Given the description of an element on the screen output the (x, y) to click on. 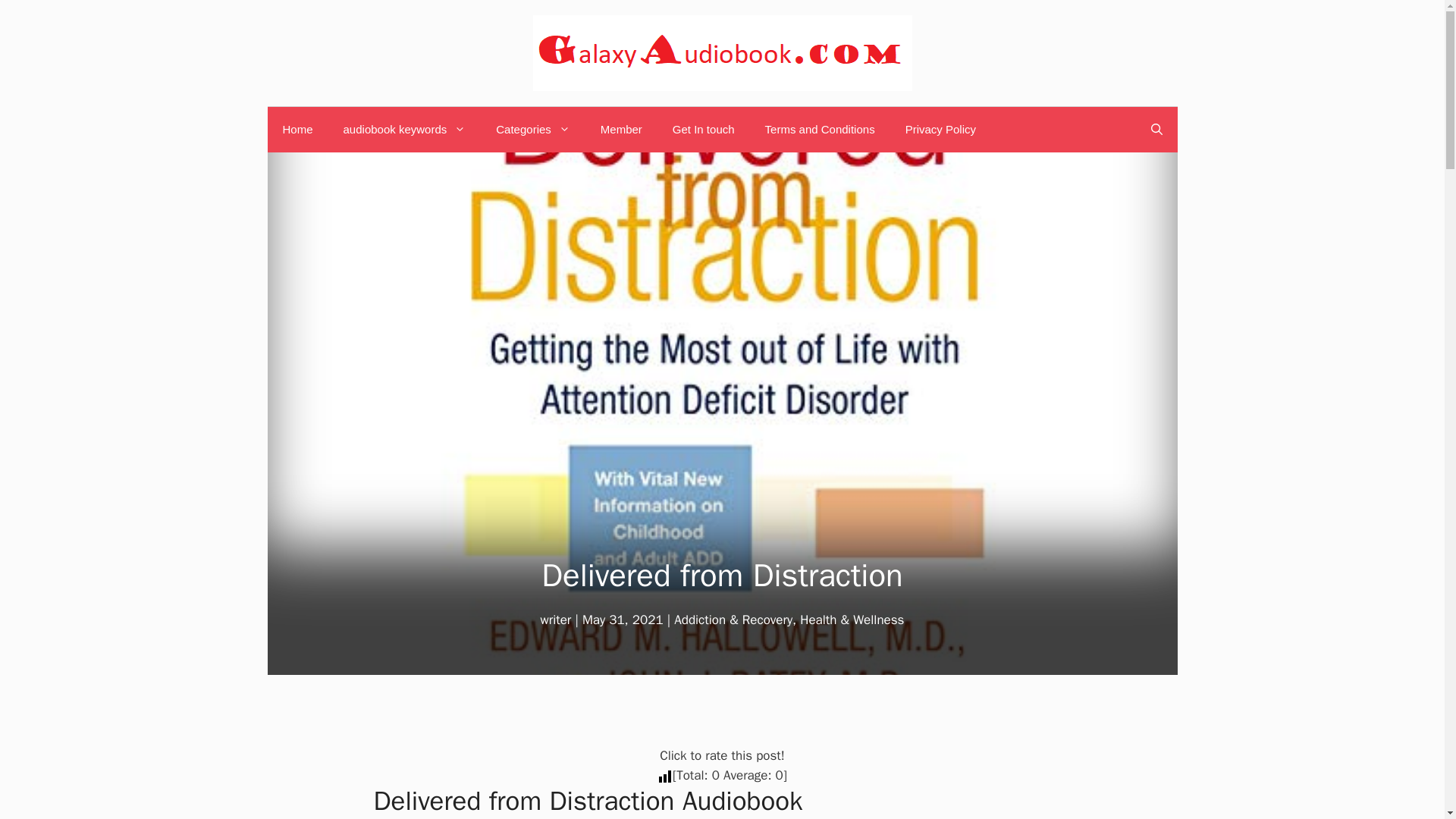
GalaxyAudiobook.com (721, 52)
Categories (532, 129)
GalaxyAudiobook.com (721, 51)
Home (296, 129)
audiobook keywords (405, 129)
View all posts by writer (556, 619)
